Given the description of an element on the screen output the (x, y) to click on. 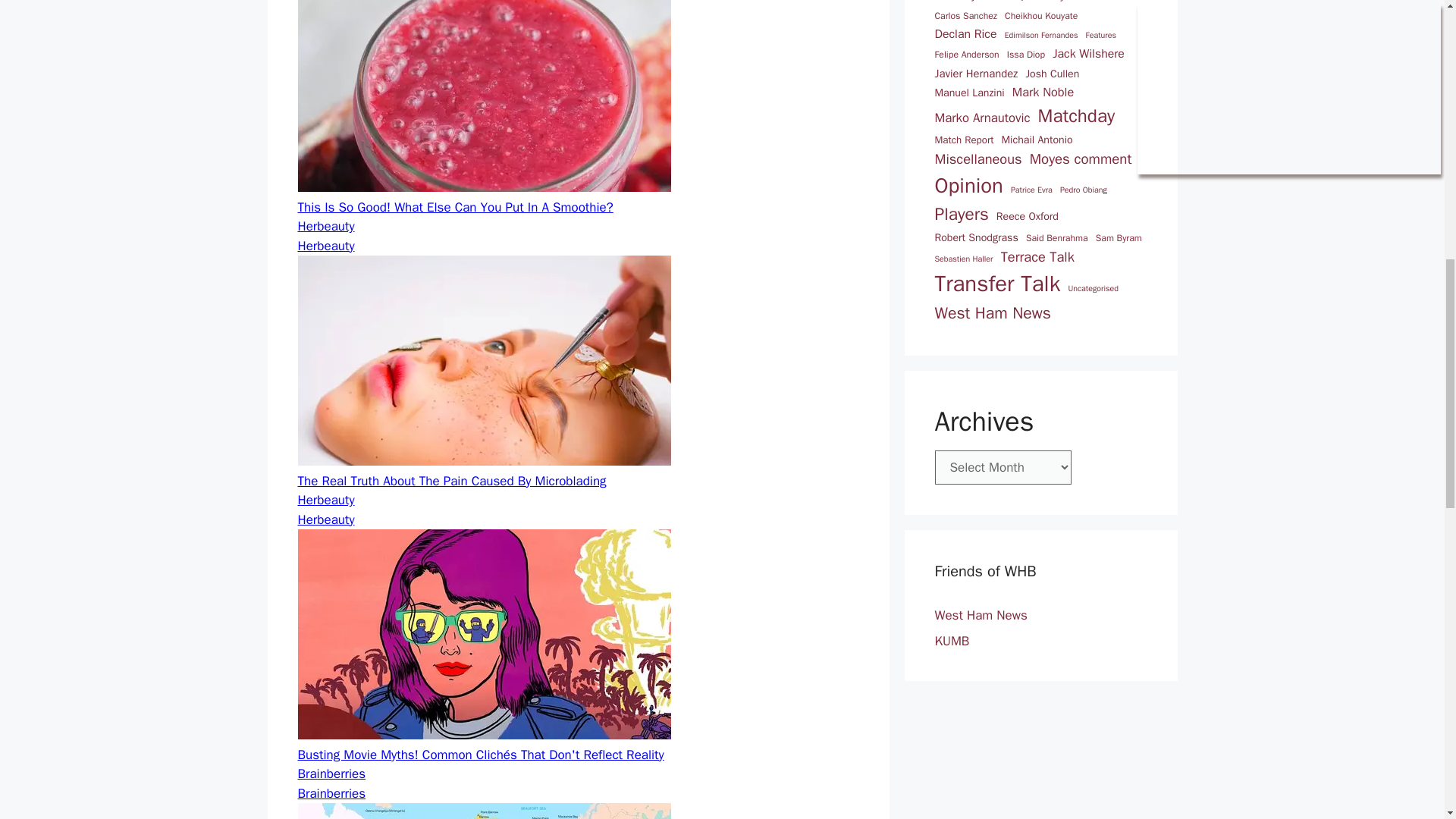
Carlos Sanchez (964, 15)
Issa Diop (1026, 54)
Josh Cullen (1051, 73)
Cheikhou Kouyate (1040, 15)
Andy Carroll (1071, 2)
Mark Noble (1042, 92)
Declan Rice (964, 34)
Features (1101, 35)
Felipe Anderson (966, 54)
Manuel Lanzini (969, 92)
